Given the description of an element on the screen output the (x, y) to click on. 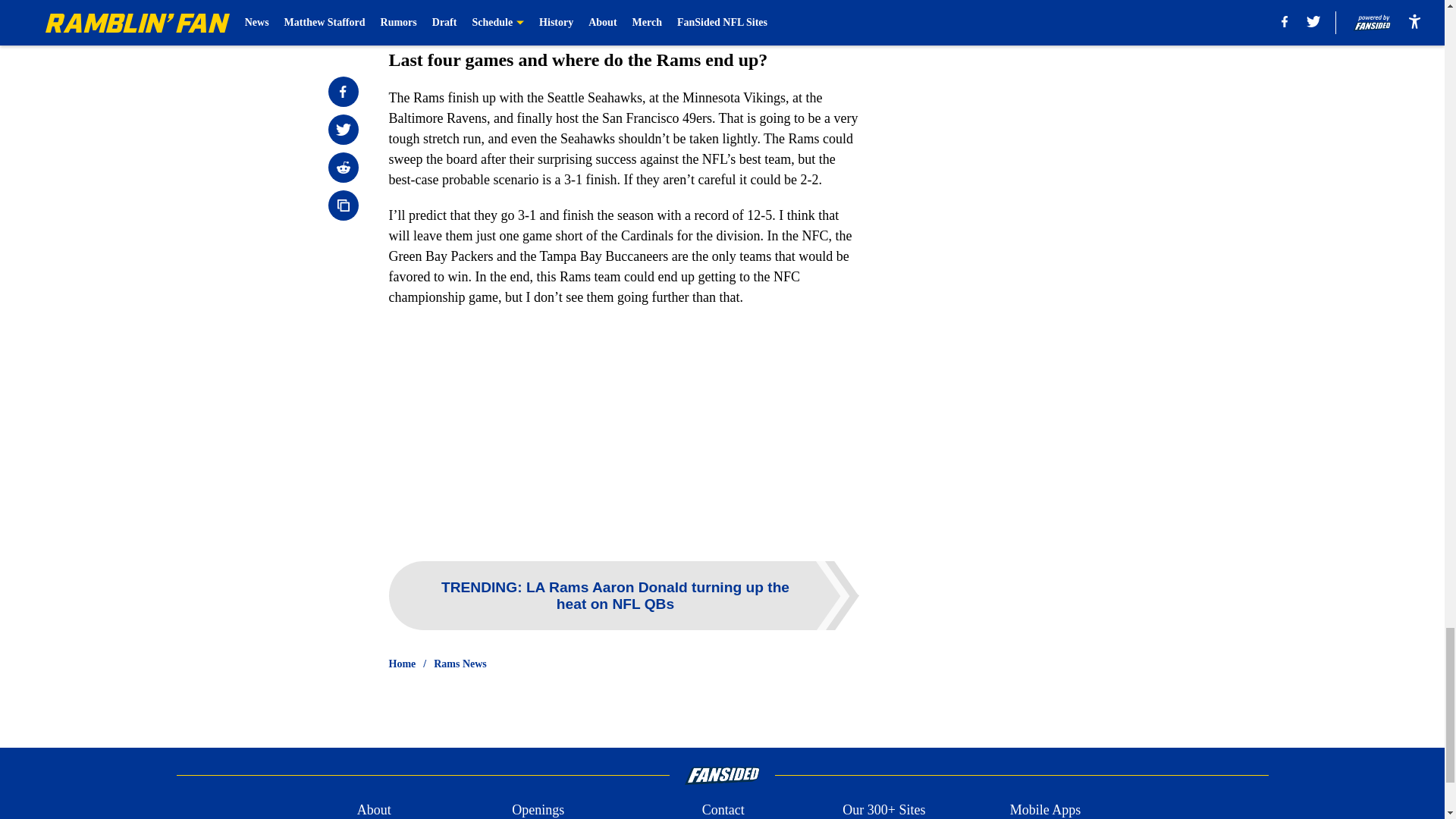
Mobile Apps (1045, 809)
Home (401, 663)
About (373, 809)
Rams News (459, 663)
Contact (722, 809)
Openings (538, 809)
